Given the description of an element on the screen output the (x, y) to click on. 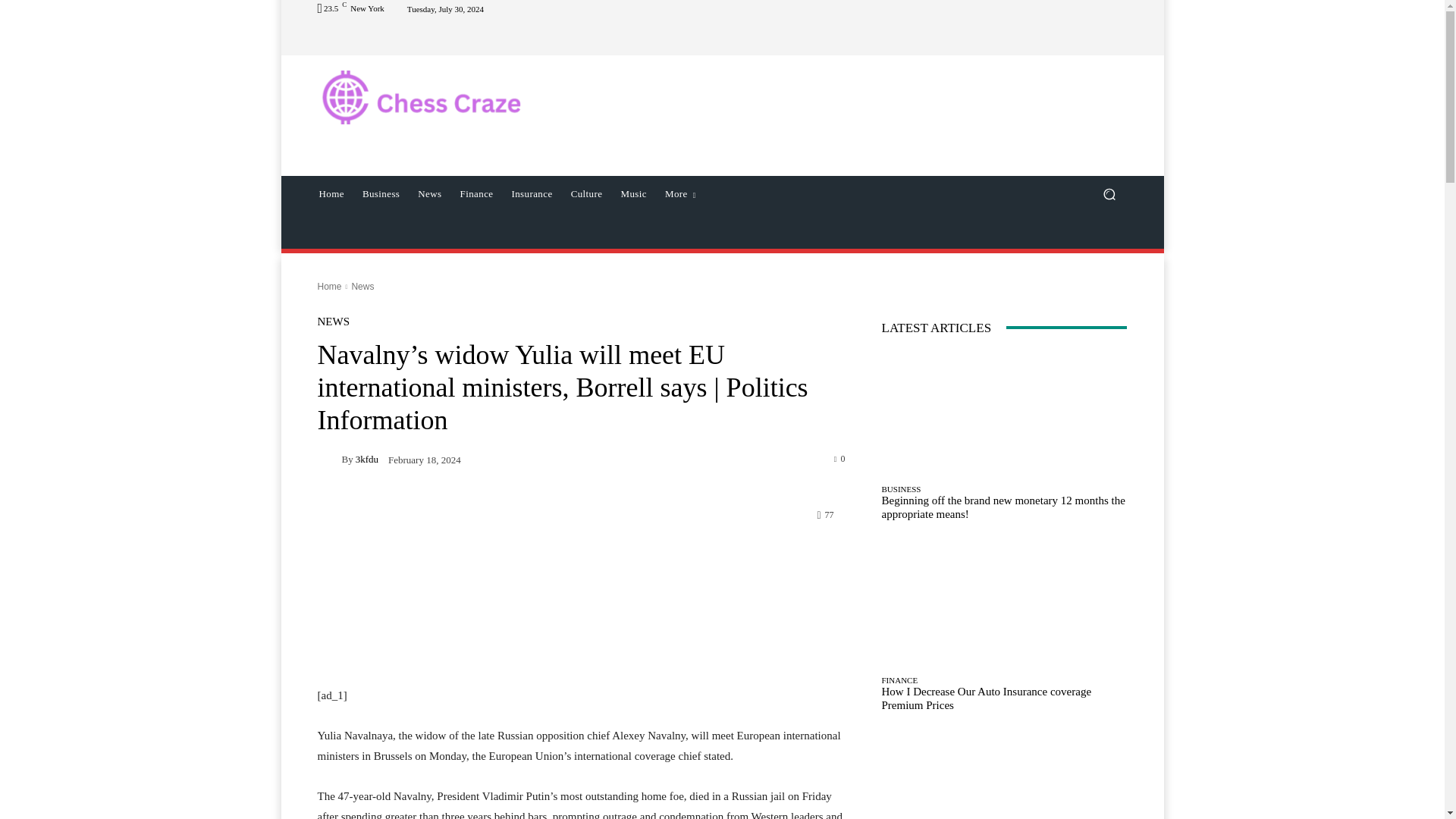
Business (381, 194)
More (680, 194)
News (362, 286)
News (429, 194)
Home (330, 194)
Finance (476, 194)
3kfdu (328, 458)
Home (328, 286)
Music (633, 194)
NEWS (333, 321)
View all posts in News (362, 286)
Insurance (531, 194)
Culture (586, 194)
